Given the description of an element on the screen output the (x, y) to click on. 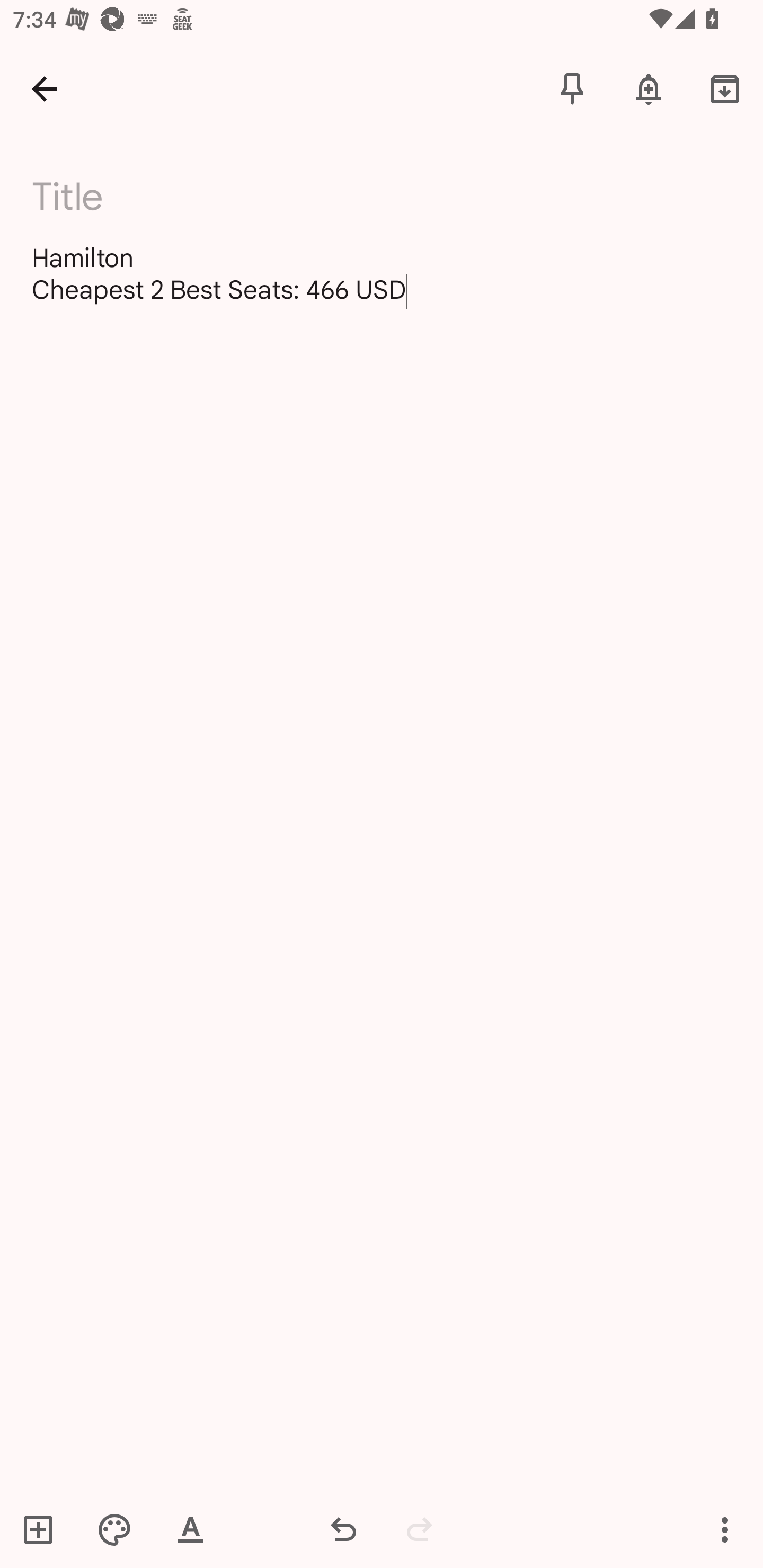
Navigate up (44, 88)
Pin (572, 88)
Reminder (648, 88)
Archive (724, 88)
Title (392, 196)
Hamilton
Cheapest 2 Best Seats: 466 USD (381, 273)
New list (44, 1529)
Theme (114, 1529)
Show formatting controls (190, 1529)
Undo (343, 1529)
Redo (419, 1529)
Action (724, 1529)
